Given the description of an element on the screen output the (x, y) to click on. 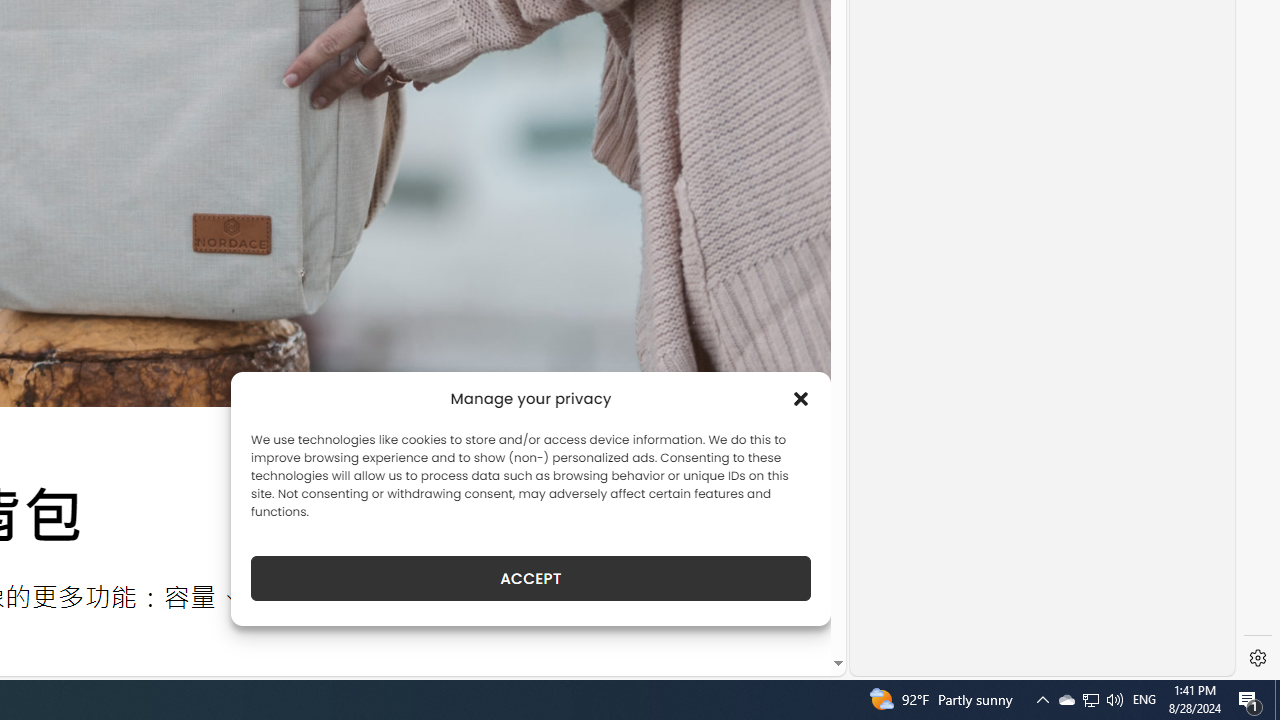
Settings (1258, 658)
ACCEPT (530, 578)
Class: cmplz-close (801, 398)
